Given the description of an element on the screen output the (x, y) to click on. 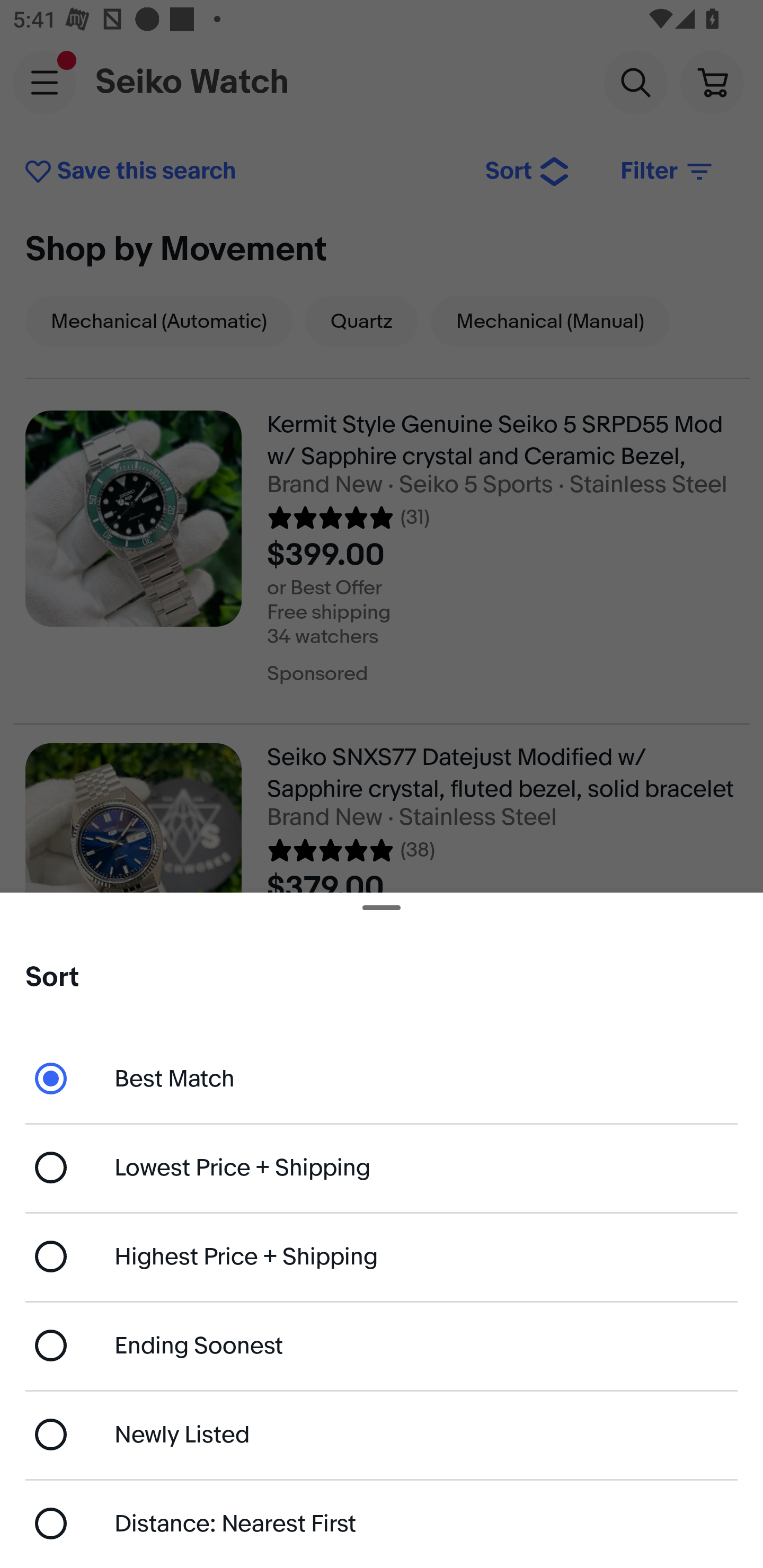
Best Match - currently selected Best Match (381, 1077)
Lowest Price + Shipping (381, 1167)
Highest Price + Shipping (381, 1256)
Ending Soonest (381, 1345)
Newly Listed (381, 1433)
Distance: Nearest First (381, 1523)
